Given the description of an element on the screen output the (x, y) to click on. 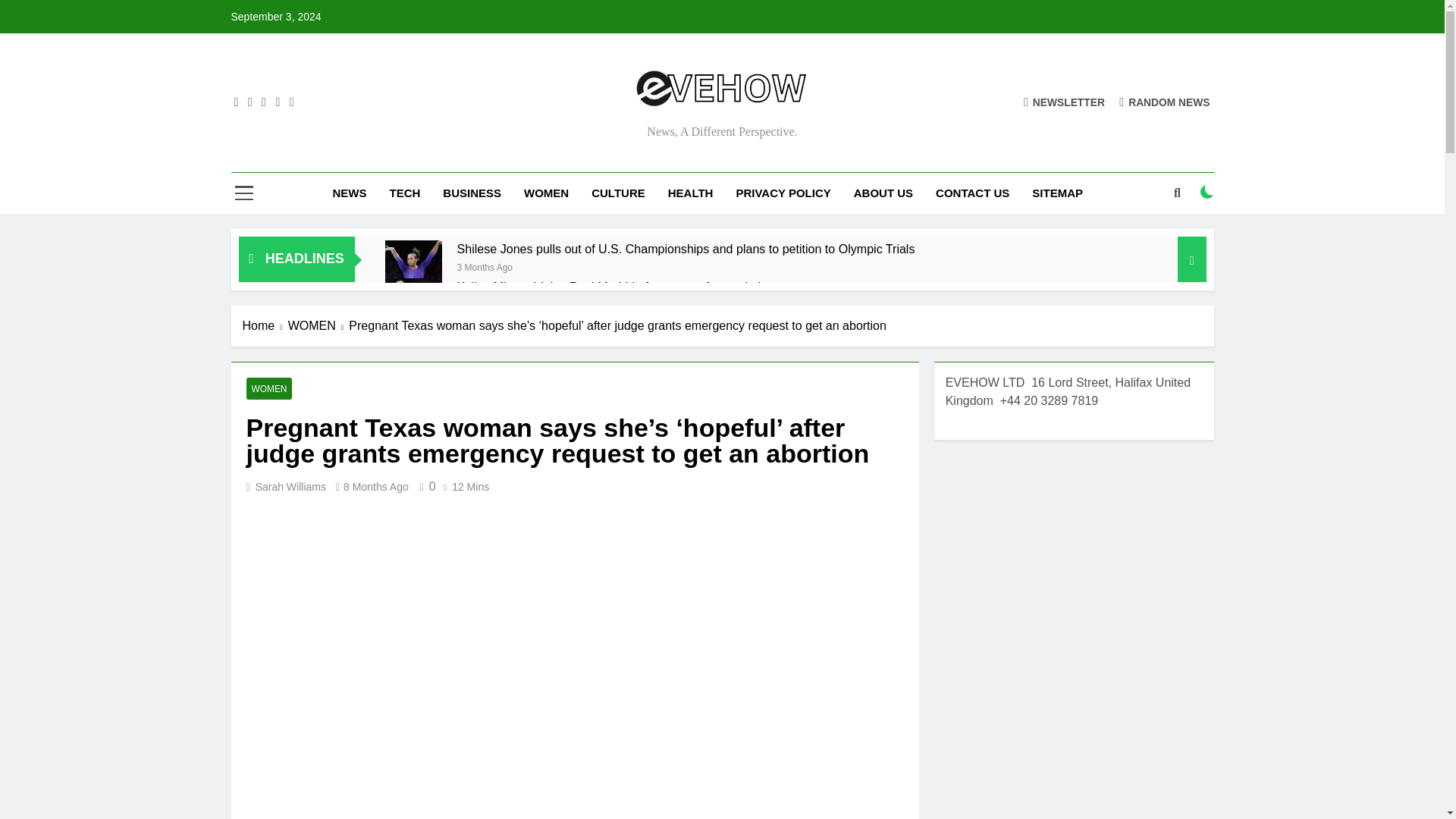
HEALTH (690, 192)
SITEMAP (1057, 192)
NEWSLETTER (1064, 101)
PRIVACY POLICY (782, 192)
3 Months Ago (484, 266)
on (1206, 192)
ABOUT US (883, 192)
